Given the description of an element on the screen output the (x, y) to click on. 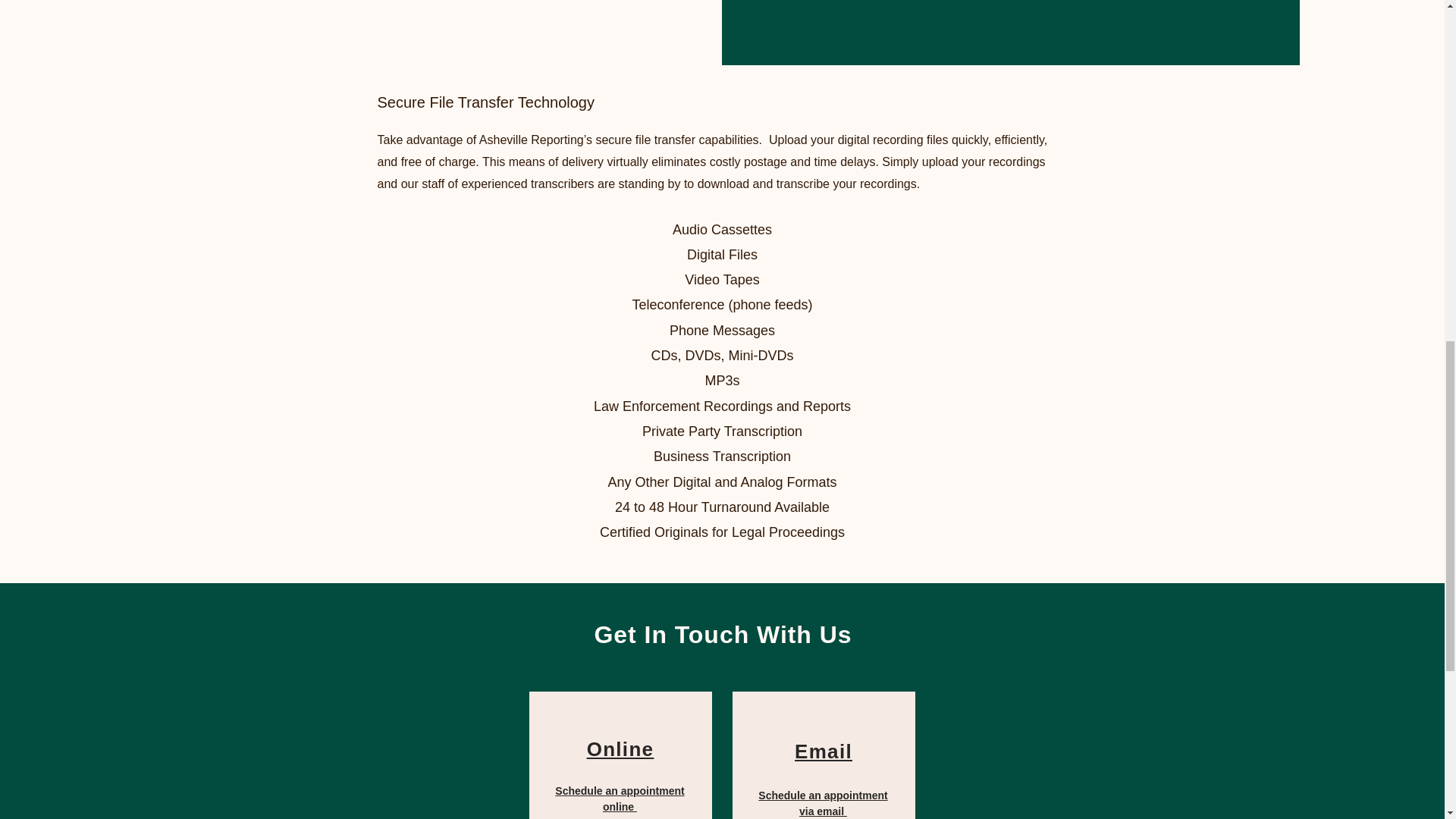
Online (619, 748)
Schedule an appointment via email  (822, 803)
Schedule an appointment online  (619, 798)
Email (822, 751)
